Given the description of an element on the screen output the (x, y) to click on. 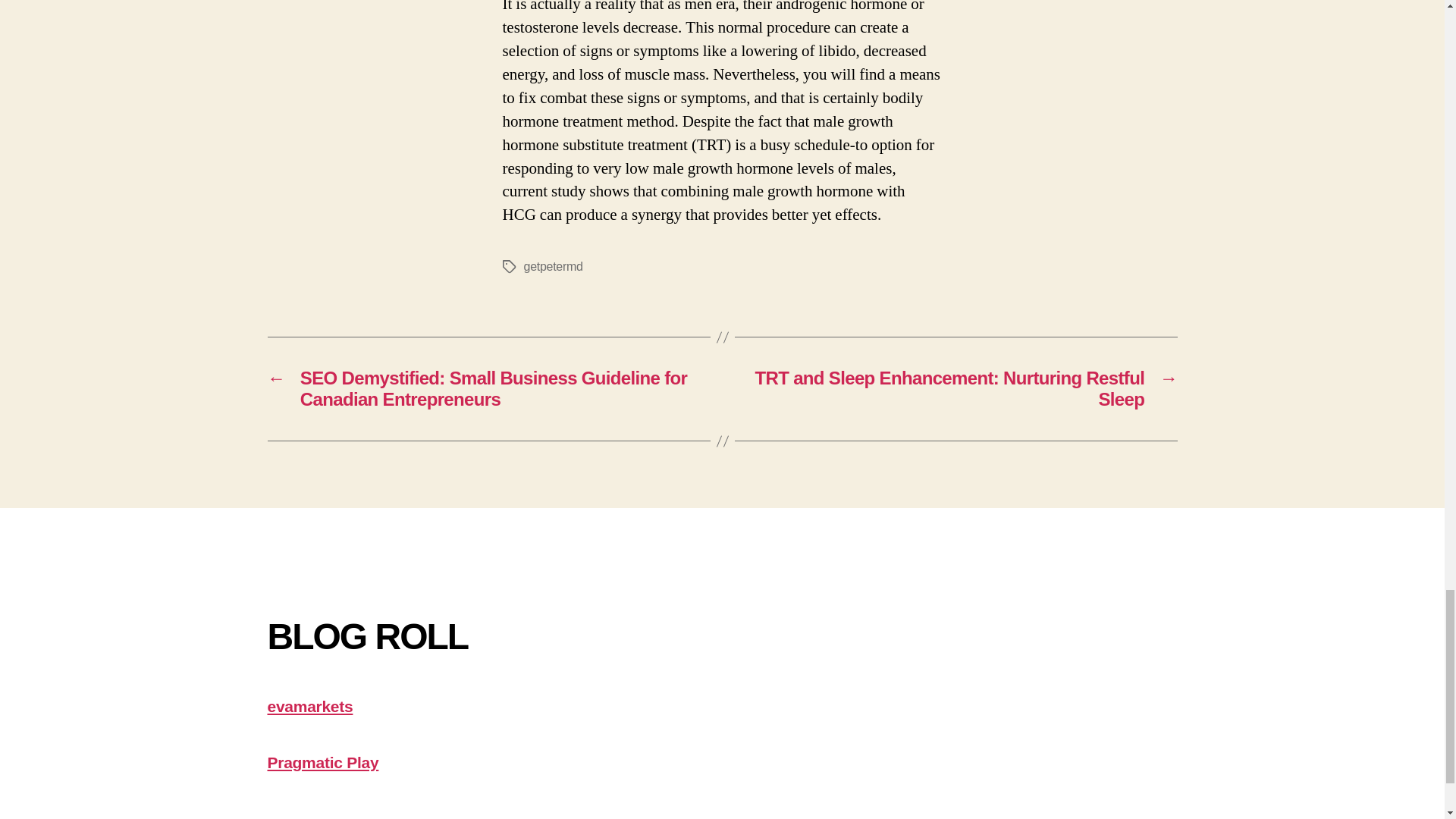
Pragmatic Play (322, 762)
evamarkets (309, 705)
getpetermd (552, 266)
